Given the description of an element on the screen output the (x, y) to click on. 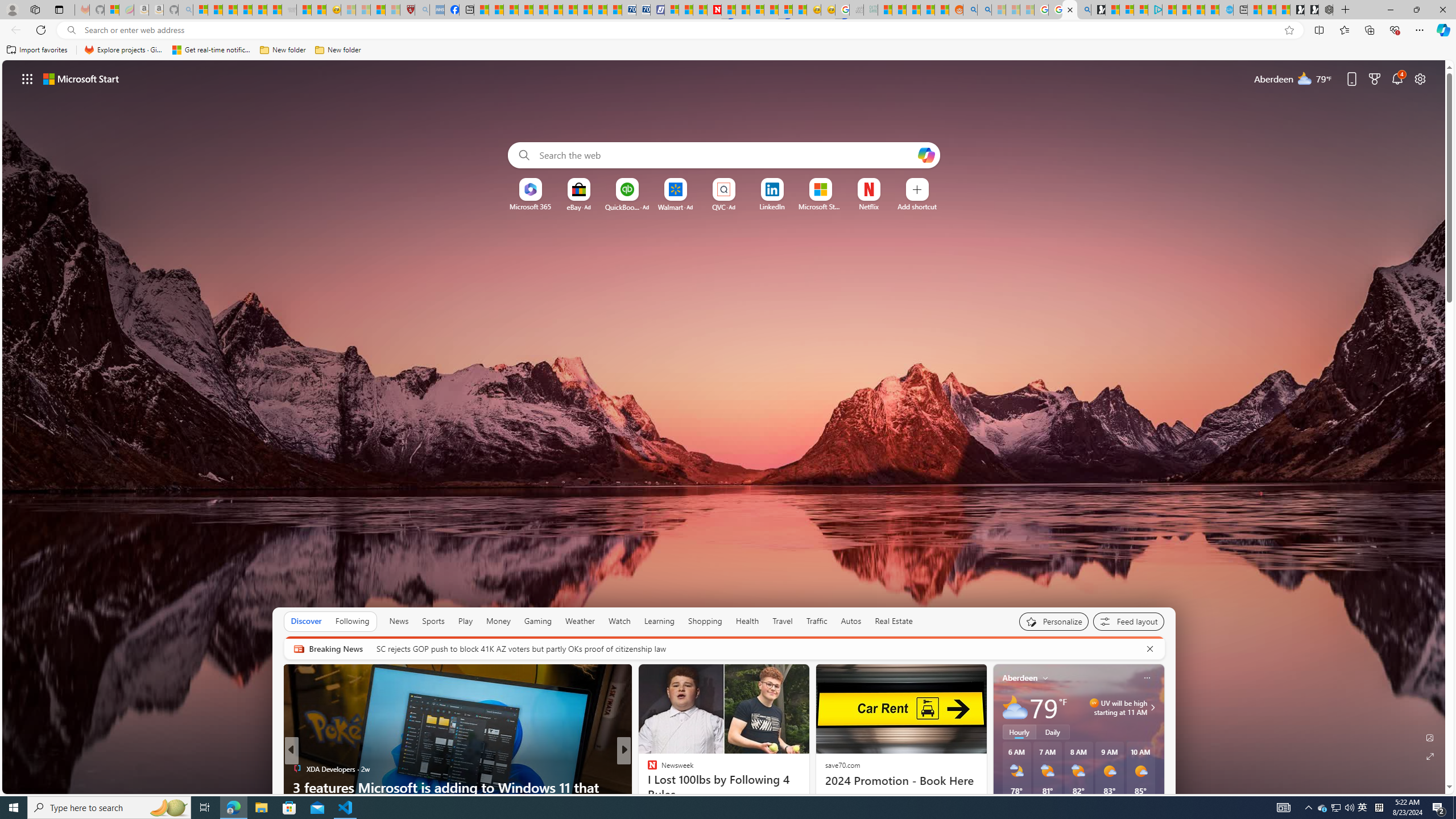
Microsoft start (81, 78)
New Report Confirms 2023 Was Record Hot | Watch (259, 9)
Add a site (916, 206)
Sports (432, 621)
